Given the description of an element on the screen output the (x, y) to click on. 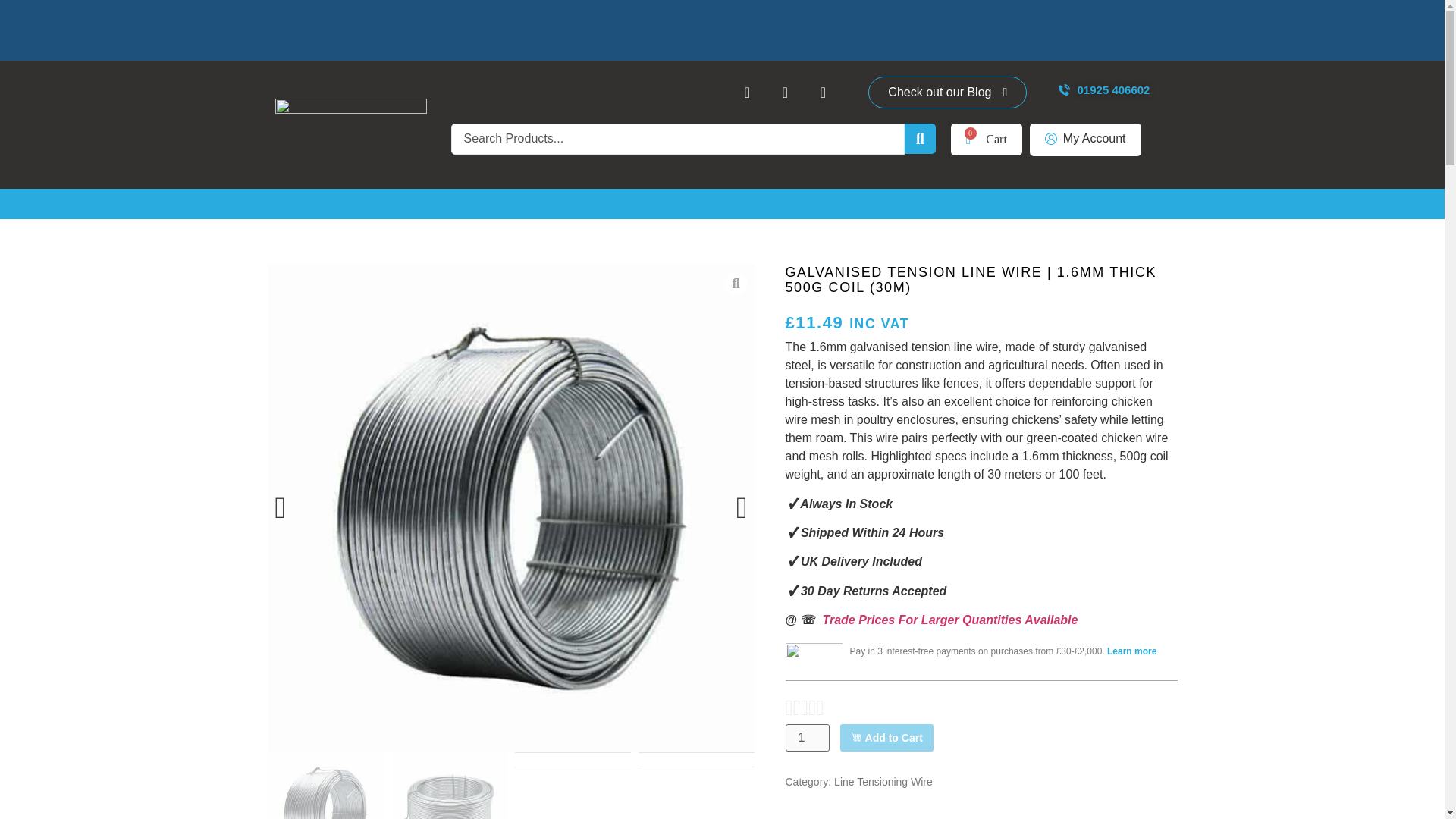
My Account (1085, 139)
01925 406602 (1104, 90)
1 (807, 737)
0 (986, 139)
Check out our Blog (946, 92)
